Given the description of an element on the screen output the (x, y) to click on. 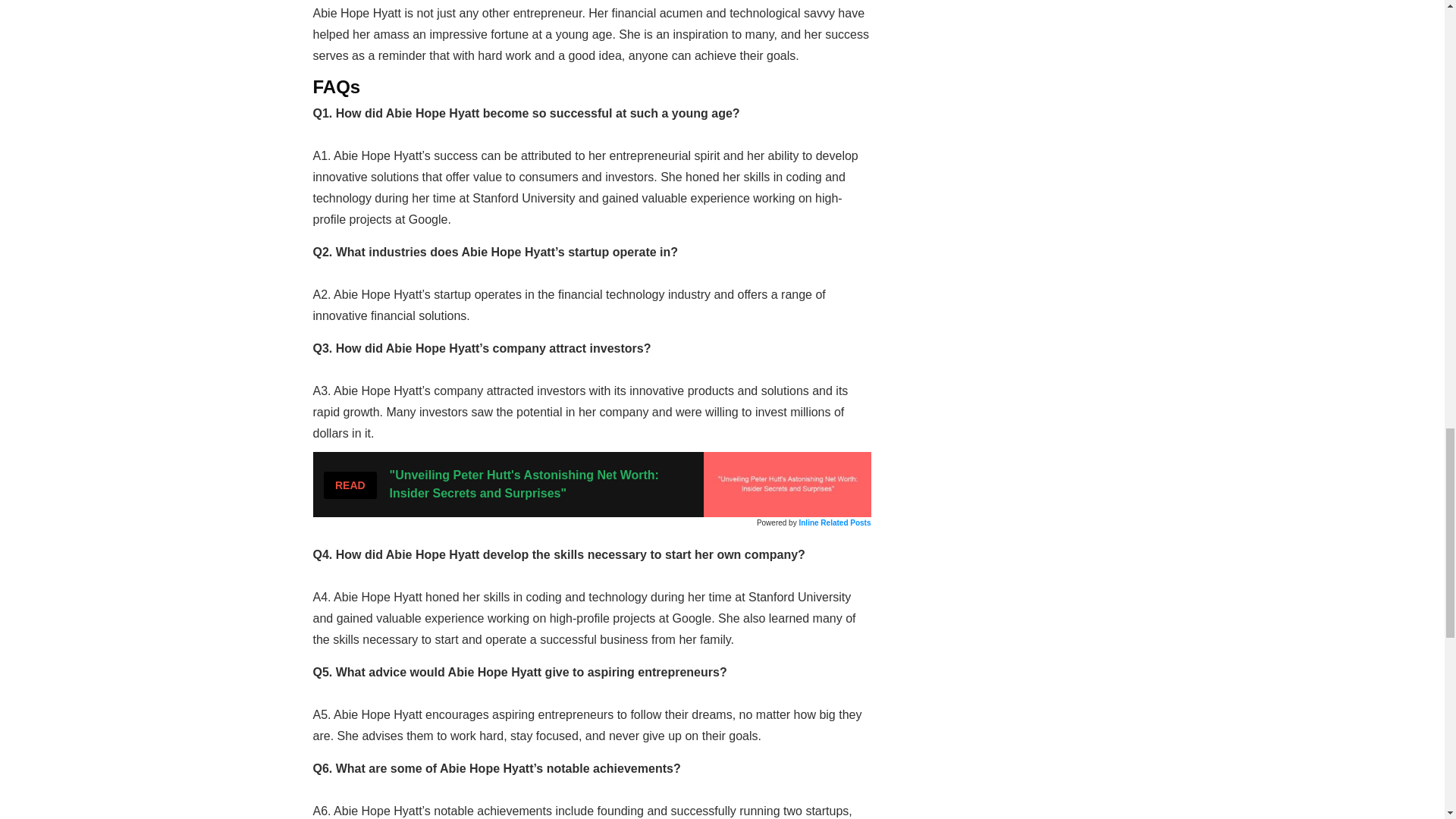
Inline Related Posts (833, 522)
Accept only essential (1203, 65)
Accept cookies (1337, 65)
cookie policy (1090, 65)
